Given the description of an element on the screen output the (x, y) to click on. 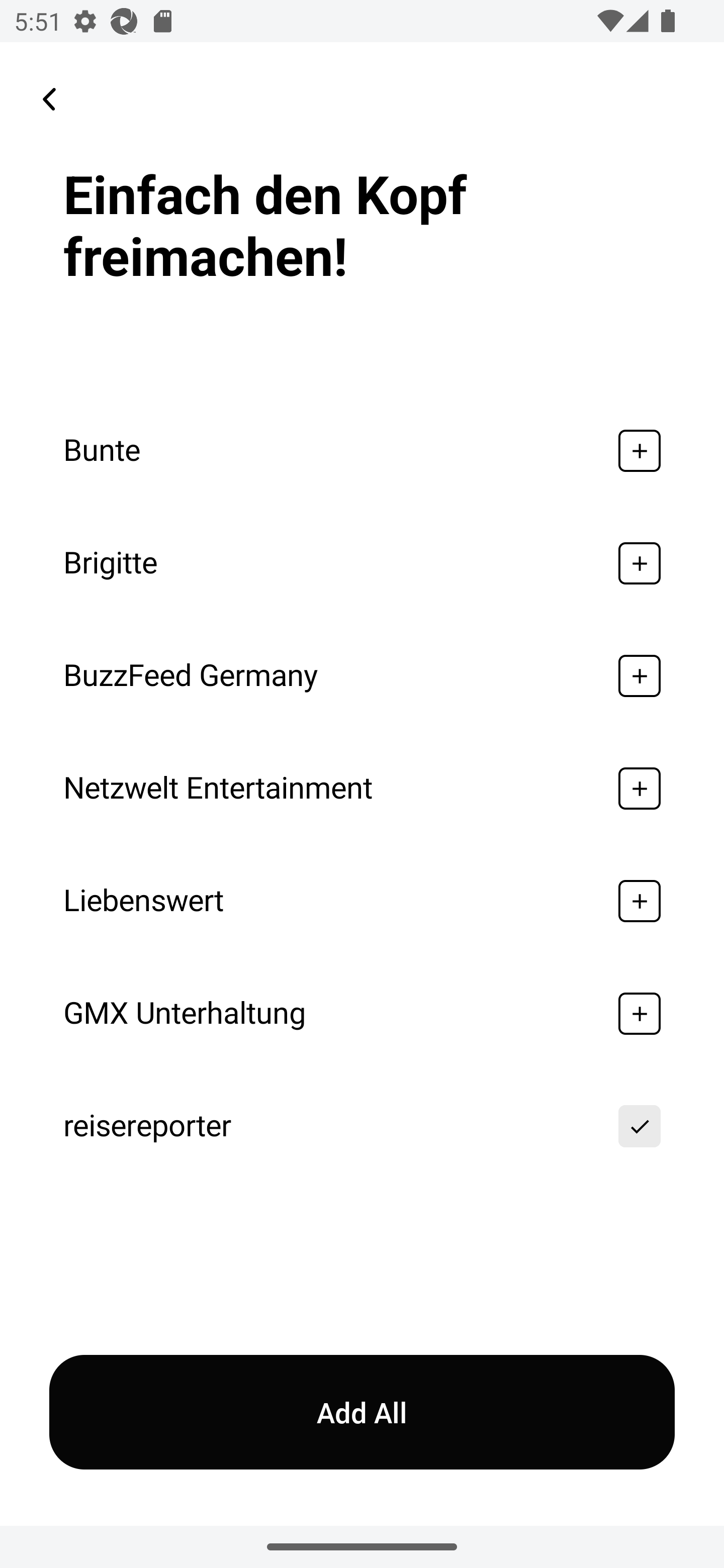
Leading Icon (49, 98)
Bunte Add To My Bundle (361, 450)
Add To My Bundle (639, 450)
Brigitte Add To My Bundle (361, 562)
Add To My Bundle (639, 562)
BuzzFeed Germany Add To My Bundle (361, 675)
Add To My Bundle (639, 675)
Netzwelt Entertainment Add To My Bundle (361, 788)
Add To My Bundle (639, 788)
Liebenswert Add To My Bundle (361, 901)
Add To My Bundle (639, 901)
GMX Unterhaltung Add To My Bundle (361, 1013)
Add To My Bundle (639, 1013)
reisereporter Add To My Bundle (361, 1125)
Add To My Bundle (639, 1125)
Add All (361, 1411)
